Given the description of an element on the screen output the (x, y) to click on. 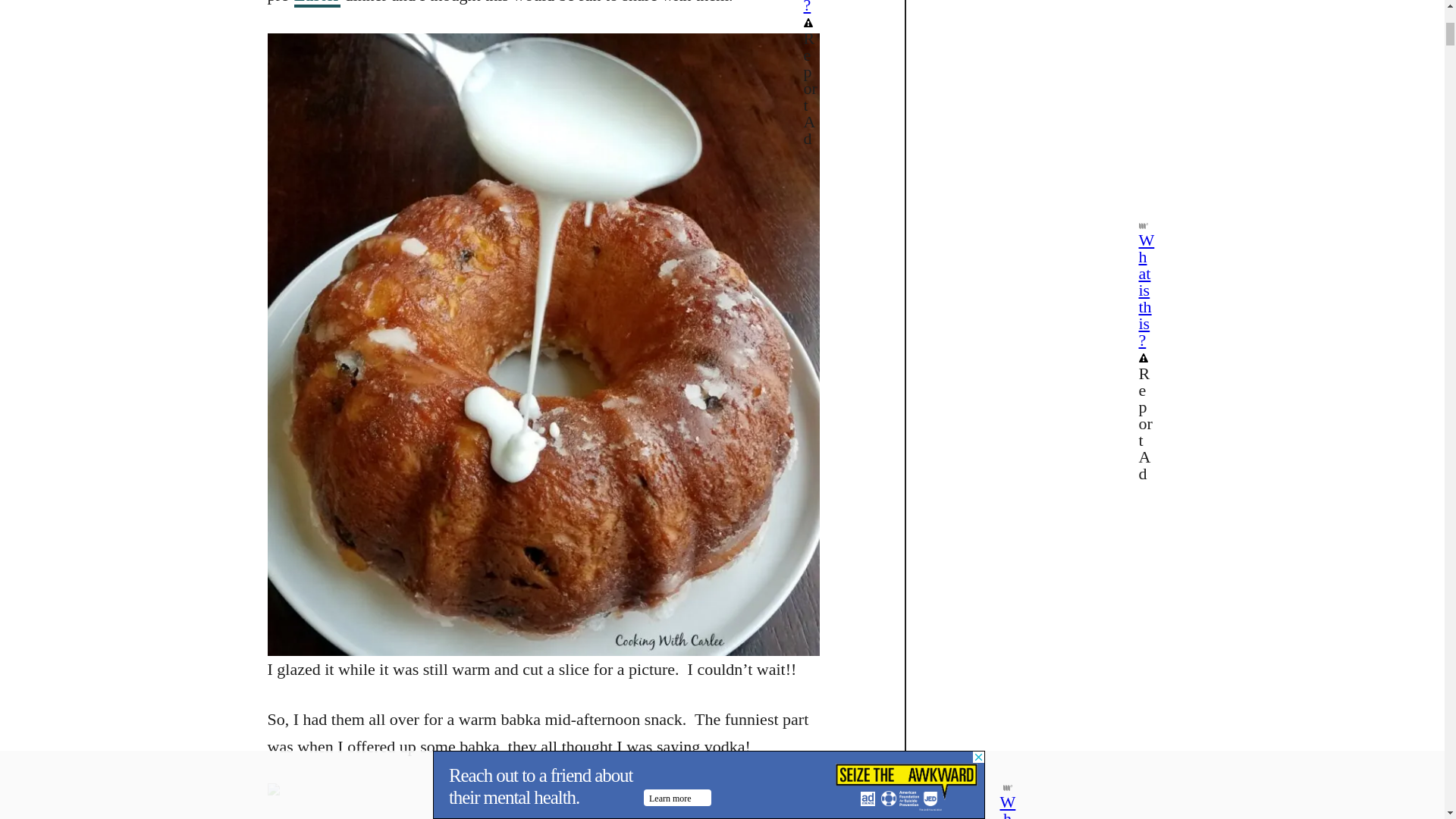
Easter (317, 3)
